Given the description of an element on the screen output the (x, y) to click on. 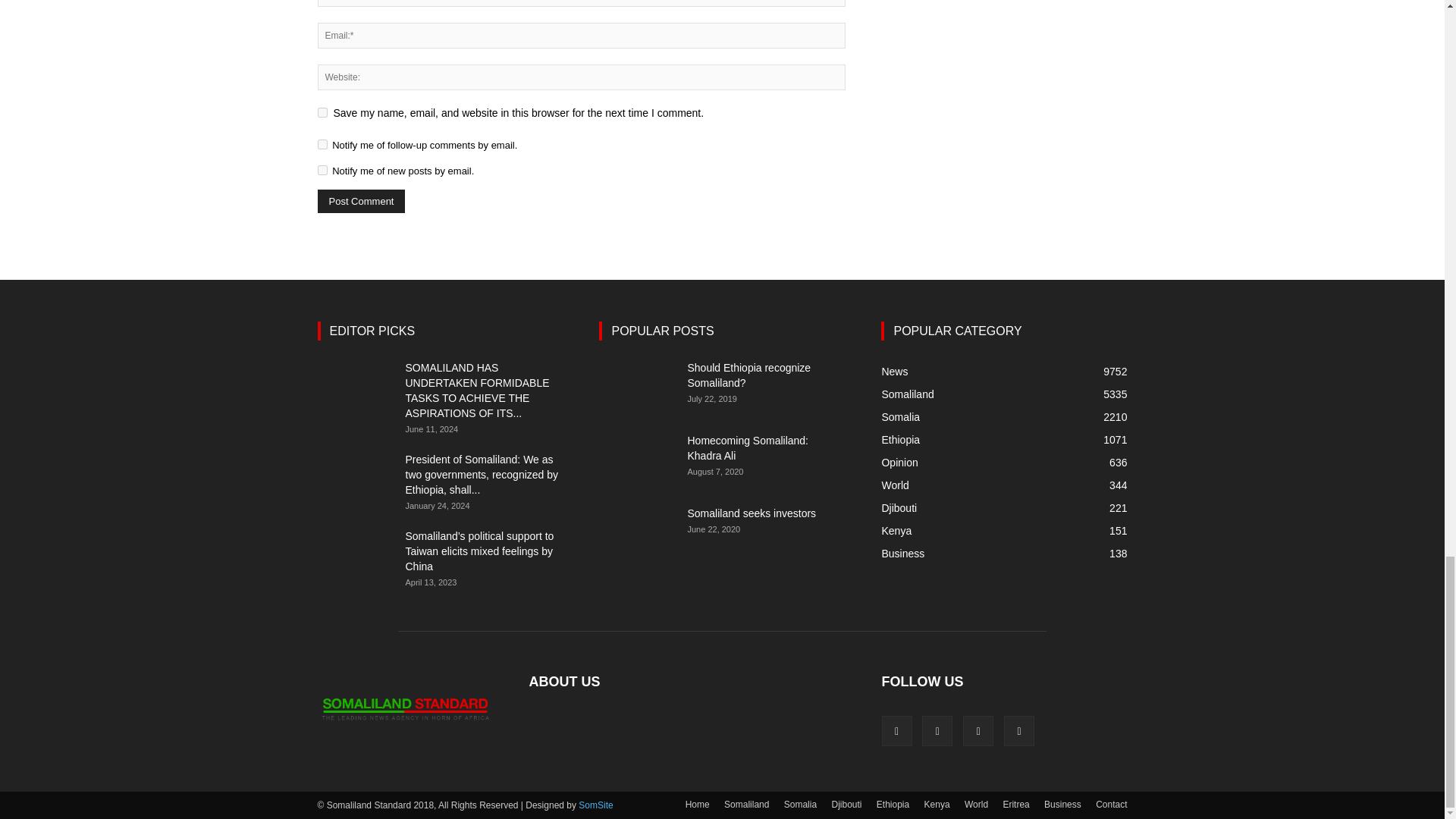
subscribe (321, 170)
Post Comment (360, 200)
yes (321, 112)
subscribe (321, 144)
